Given the description of an element on the screen output the (x, y) to click on. 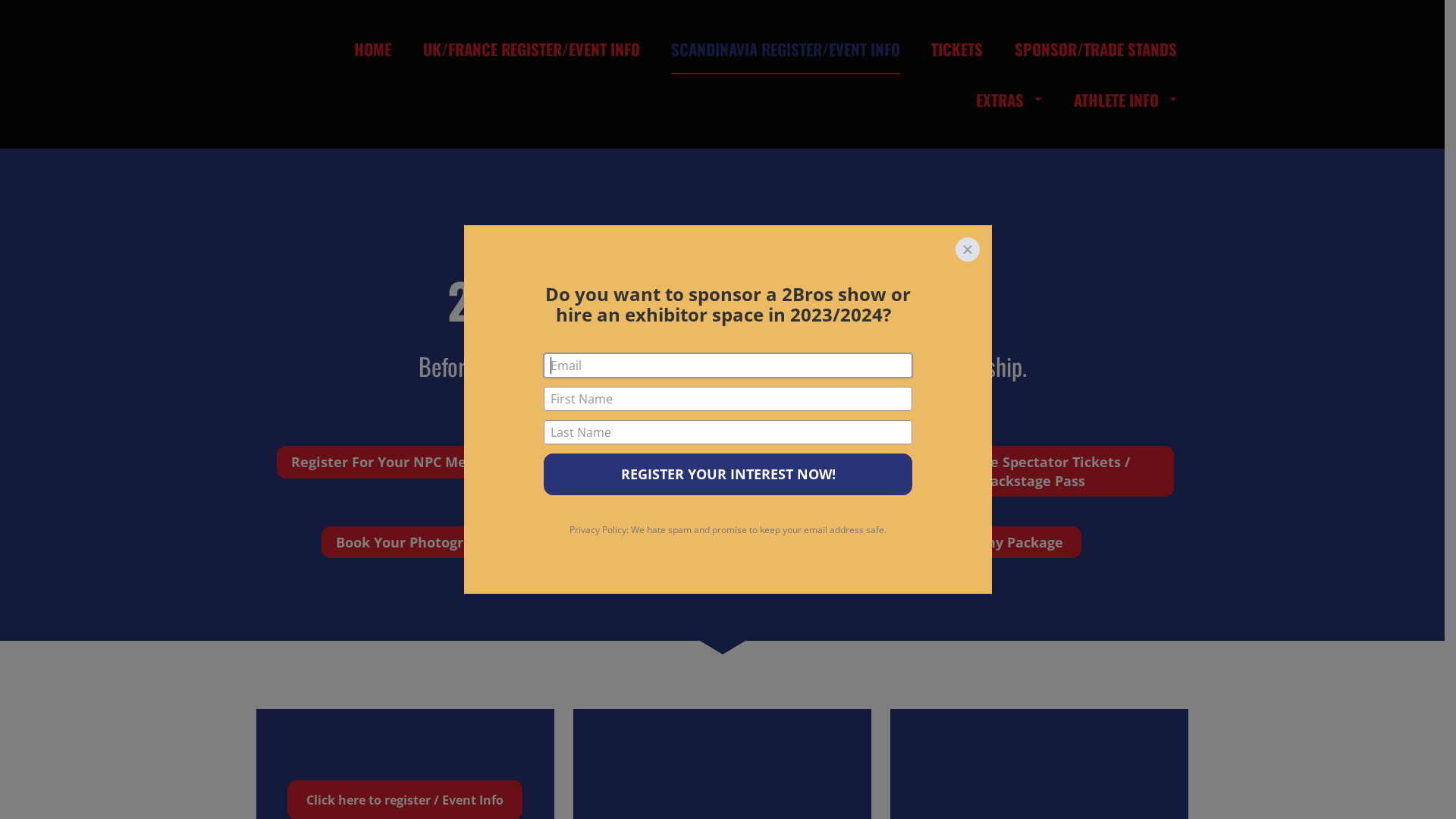
Book Your Photography Package Scandinavia Element type: text (489, 542)
SPONSOR/TRADE STANDS Element type: text (1095, 48)
EXTRAS Element type: text (1008, 99)
UK/FRANCE REGISTER/EVENT INFO Element type: text (531, 48)
Register For Your NPC Membership Element type: text (411, 461)
Book Your Tan / Hair / Make Up Element type: text (722, 461)
Purchase Spectator Tickets / Backstage Pass Element type: text (1032, 471)
ATHLETE INFO Element type: text (1124, 99)
HOME Element type: text (372, 48)
TICKETS Element type: text (956, 48)
Book Your Videography Package  Element type: text (955, 542)
SCANDINAVIA REGISTER/EVENT INFO Element type: text (785, 48)
